Given the description of an element on the screen output the (x, y) to click on. 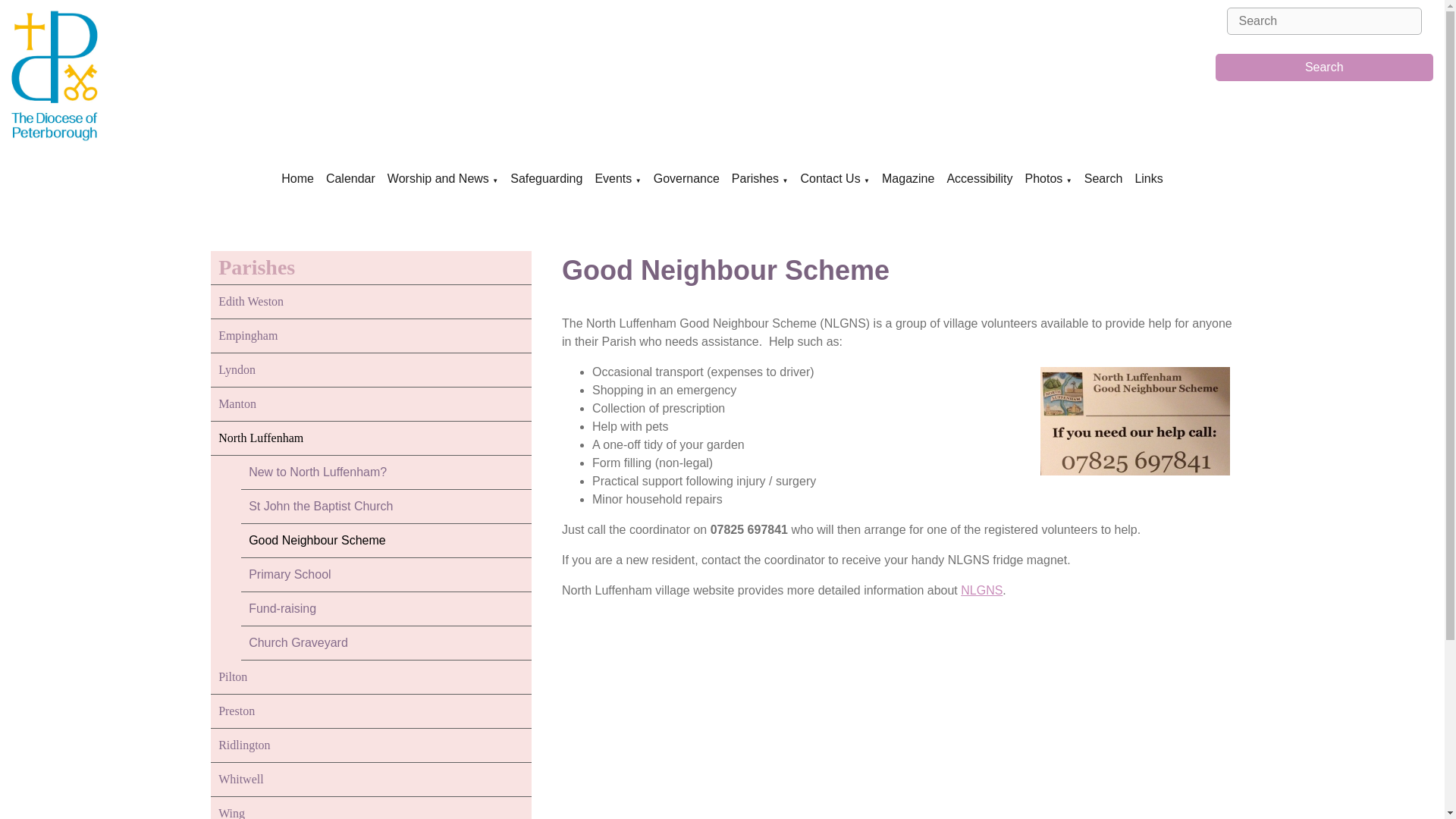
Search (1323, 67)
logo (119, 75)
